Given the description of an element on the screen output the (x, y) to click on. 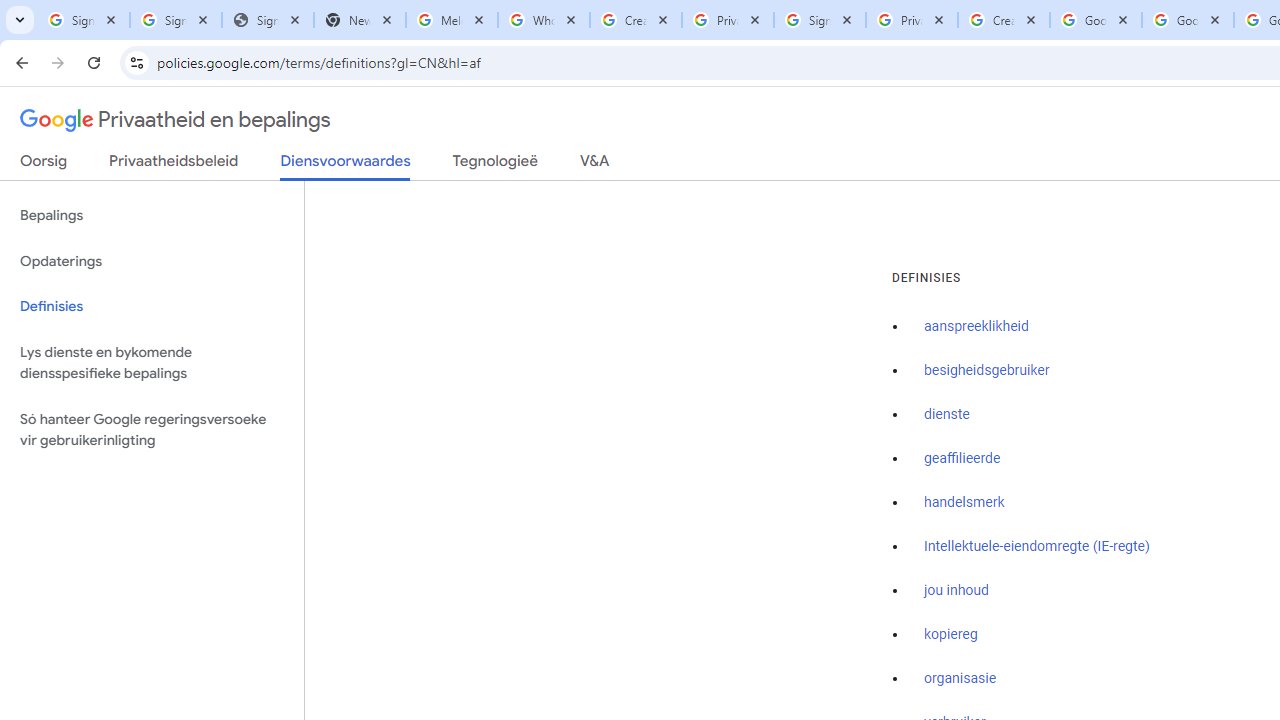
aanspreeklikheid (976, 327)
organisasie (960, 679)
Sign in - Google Accounts (820, 20)
Create your Google Account (636, 20)
dienste (947, 415)
Lys dienste en bykomende diensspesifieke bepalings (152, 362)
Sign in - Google Accounts (175, 20)
Privaatheidsbeleid (173, 165)
